Given the description of an element on the screen output the (x, y) to click on. 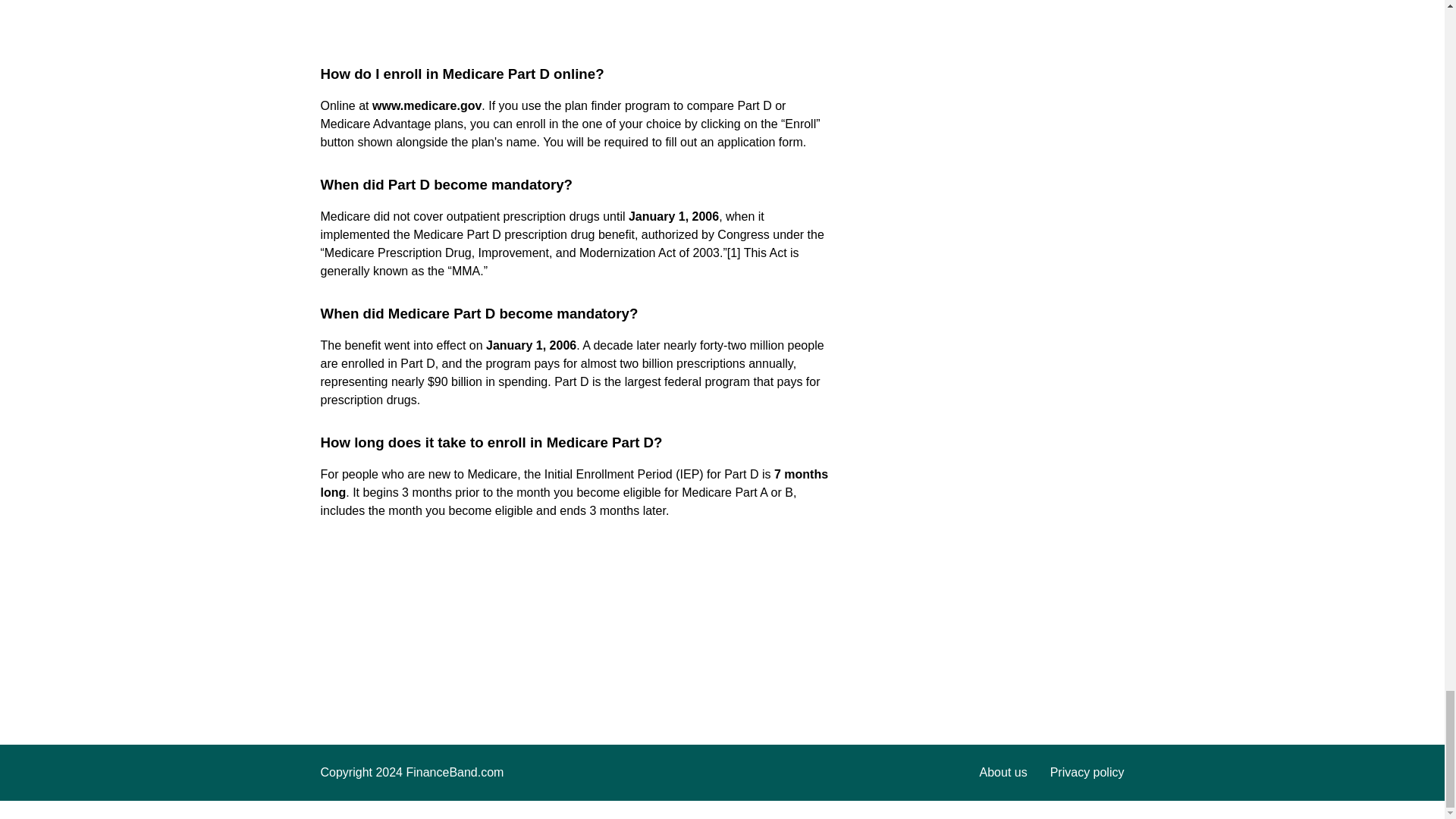
About us (1003, 772)
